Given the description of an element on the screen output the (x, y) to click on. 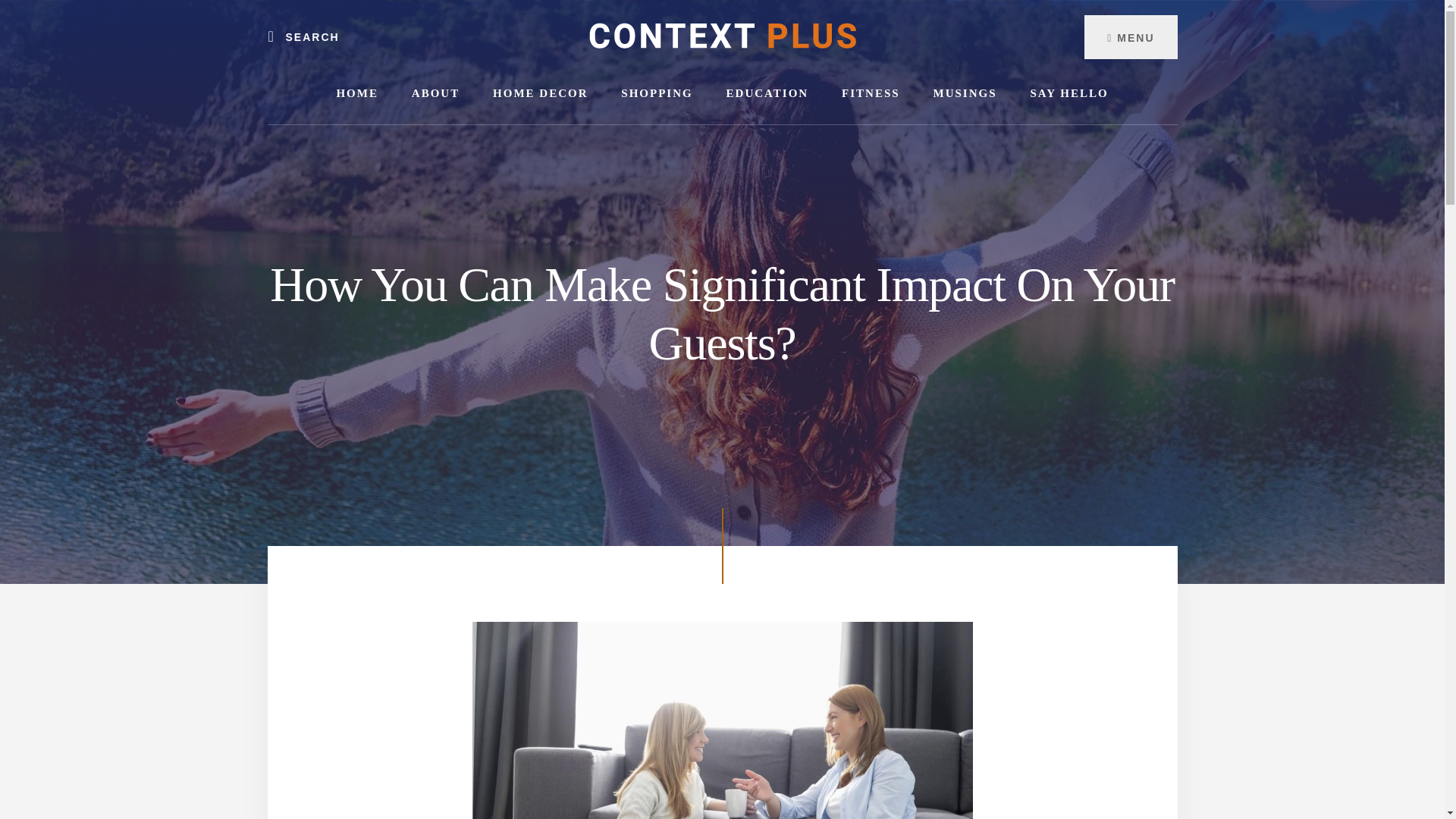
ABOUT (435, 93)
SHOPPING (656, 93)
SAY HELLO (1068, 93)
HOME DECOR (539, 93)
HOME (356, 93)
MENU (1130, 36)
EDUCATION (767, 93)
